Given the description of an element on the screen output the (x, y) to click on. 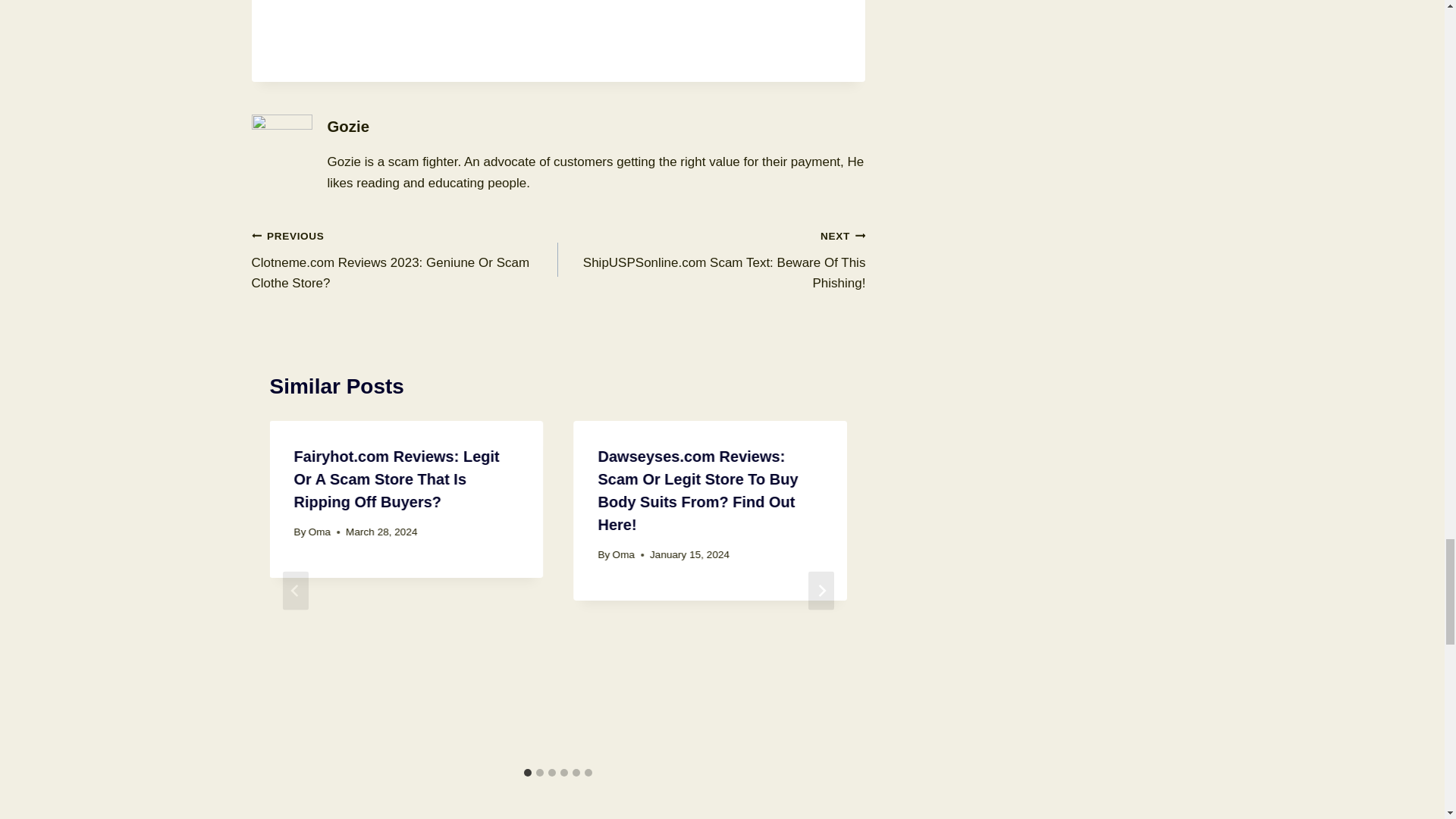
Gozie (348, 126)
Posts by Gozie (348, 126)
